Given the description of an element on the screen output the (x, y) to click on. 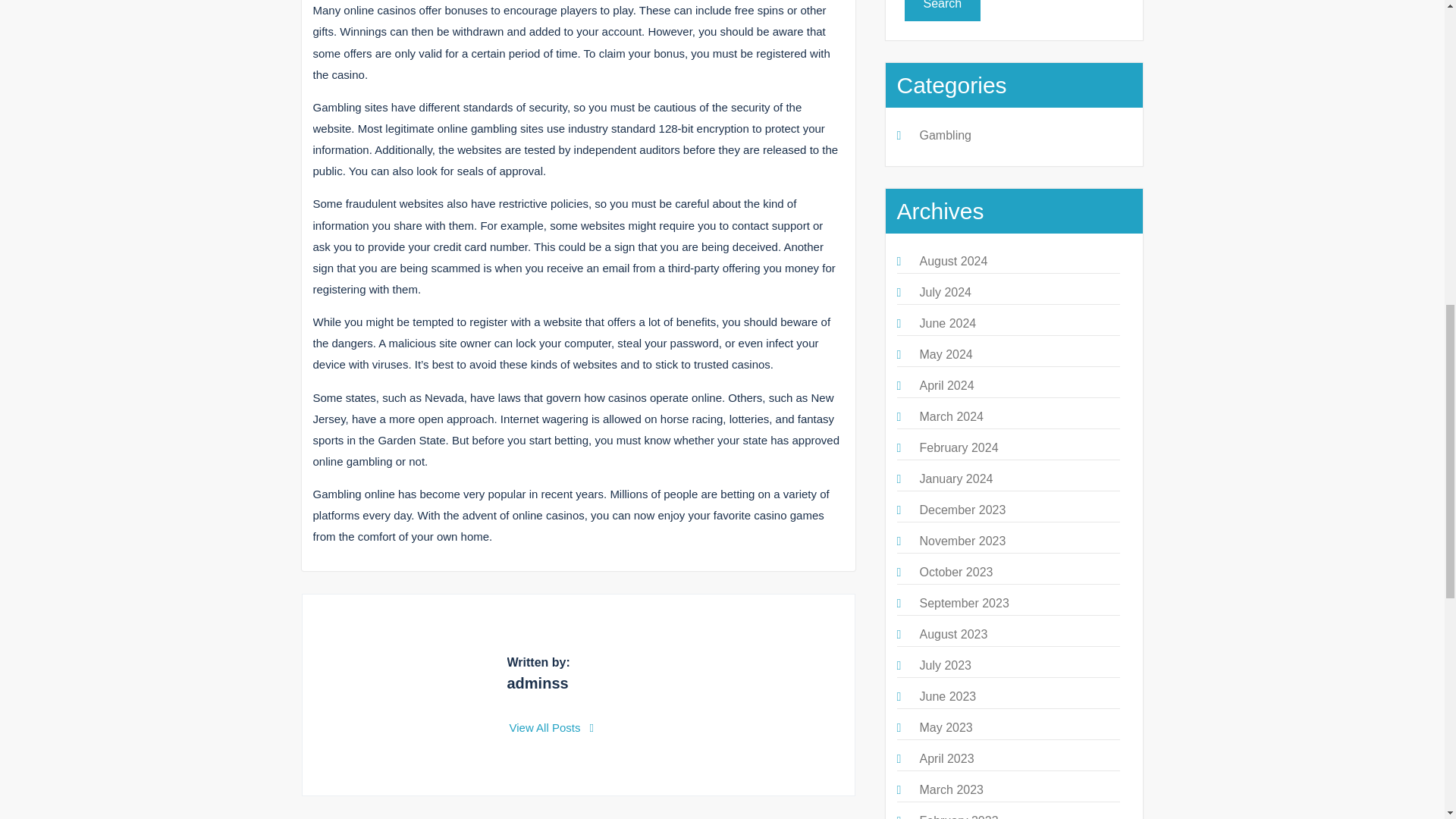
February 2024 (957, 447)
March 2023 (951, 789)
May 2023 (945, 727)
April 2023 (946, 758)
January 2024 (955, 478)
Gambling (944, 134)
October 2023 (955, 571)
August 2023 (952, 634)
Search (941, 10)
March 2024 (951, 416)
